Given the description of an element on the screen output the (x, y) to click on. 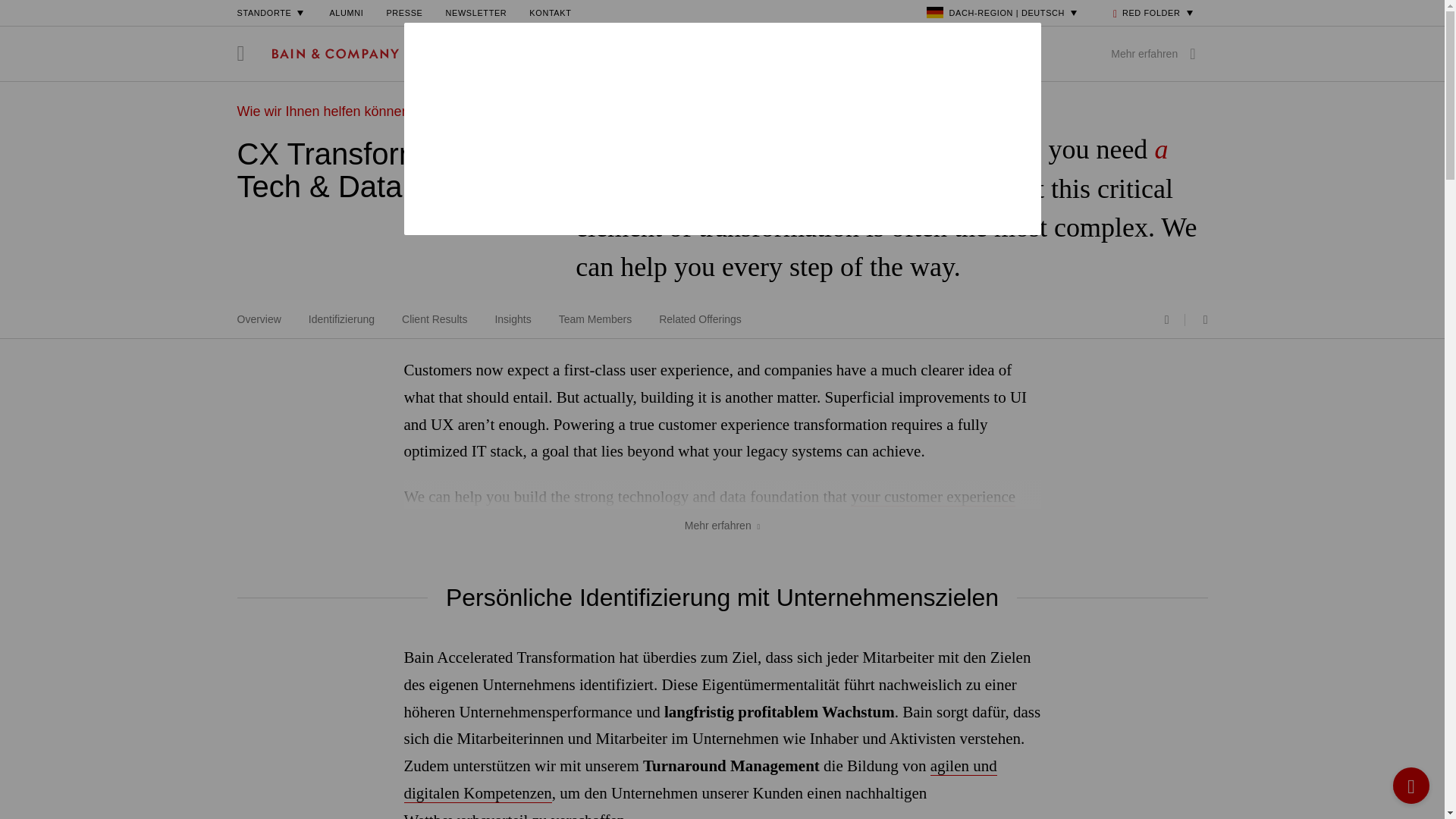
STANDORTE (270, 12)
